Given the description of an element on the screen output the (x, y) to click on. 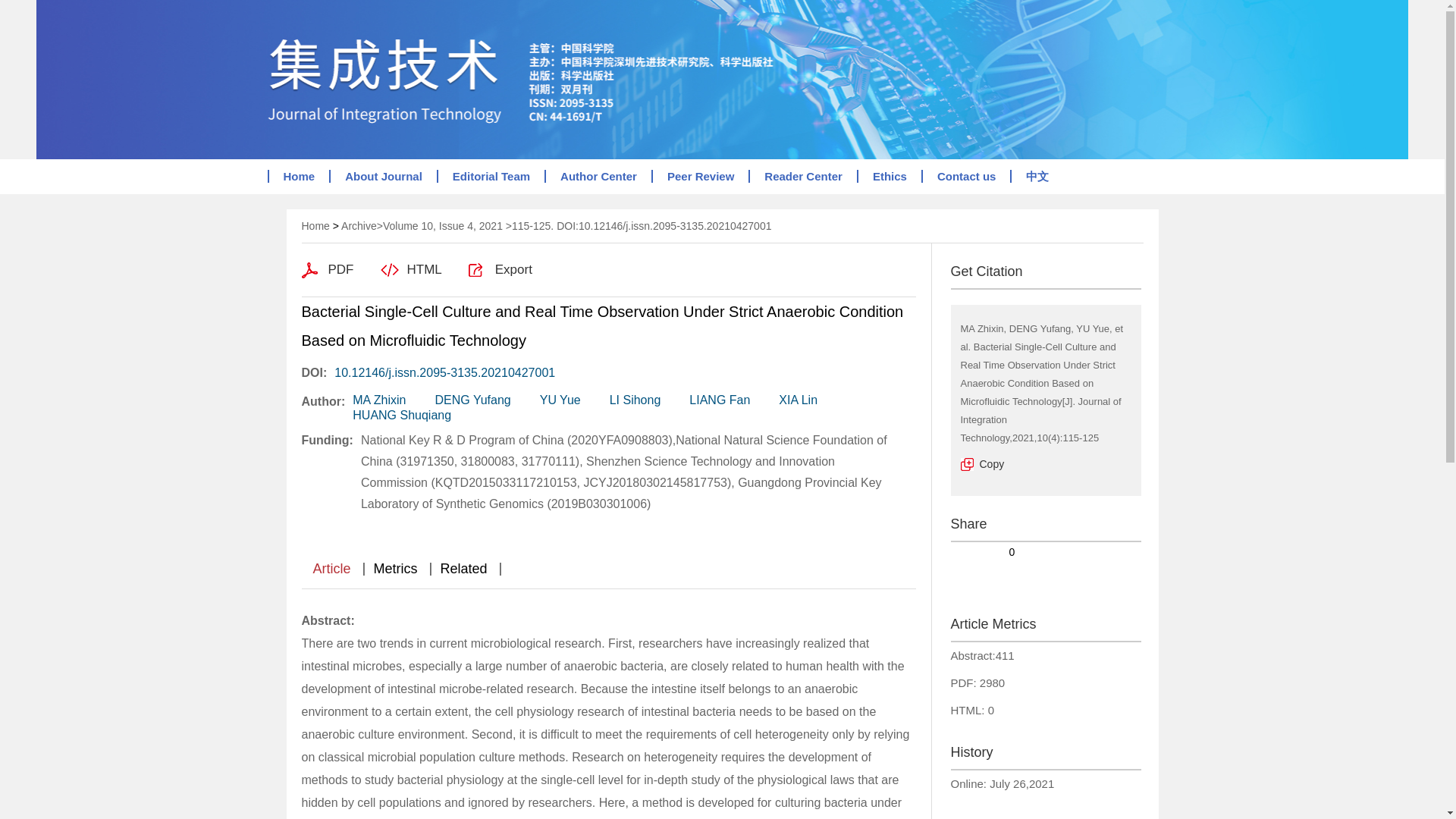
HTML (411, 270)
Contact us (965, 175)
Editorial Team (490, 175)
Volume 10, Issue 4, 2021 (442, 225)
Home (297, 175)
Home (315, 225)
About Journal (382, 175)
Archive (358, 225)
Reader Center (802, 175)
Ethics (889, 175)
